Given the description of an element on the screen output the (x, y) to click on. 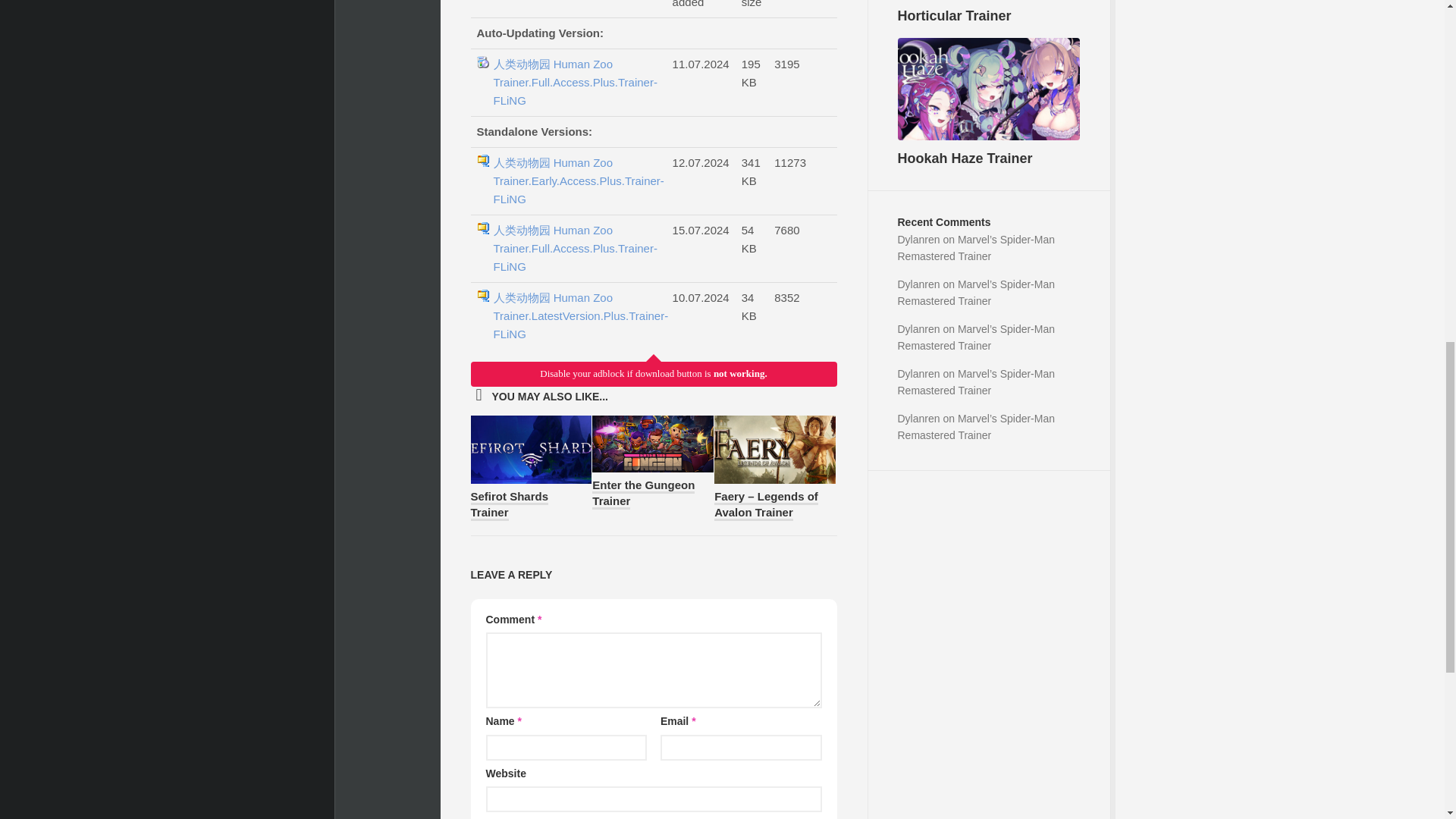
Sefirot Shards Trainer (509, 504)
Enter the Gungeon Trainer (643, 493)
